Given the description of an element on the screen output the (x, y) to click on. 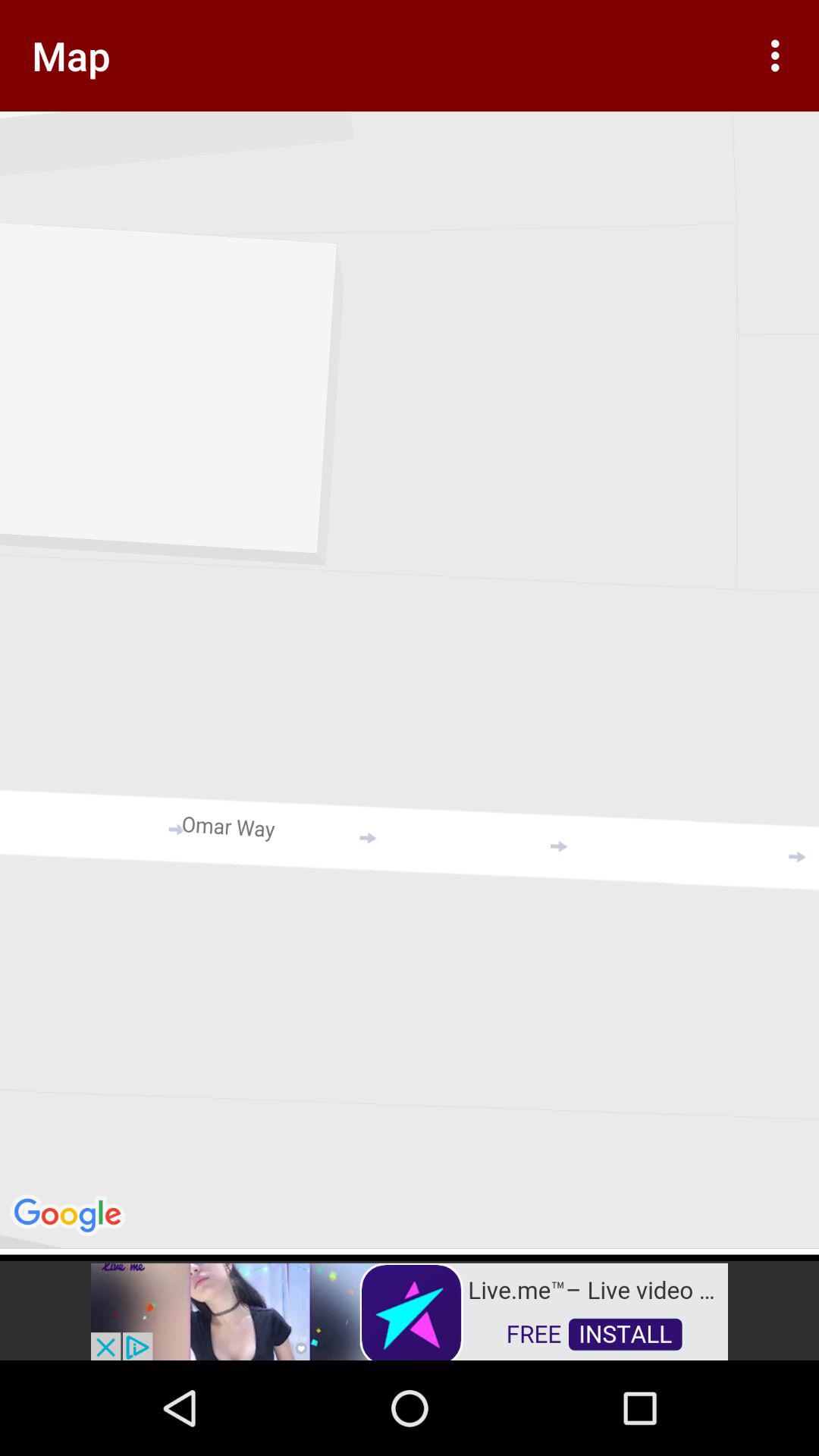
go to add (409, 1310)
